Given the description of an element on the screen output the (x, y) to click on. 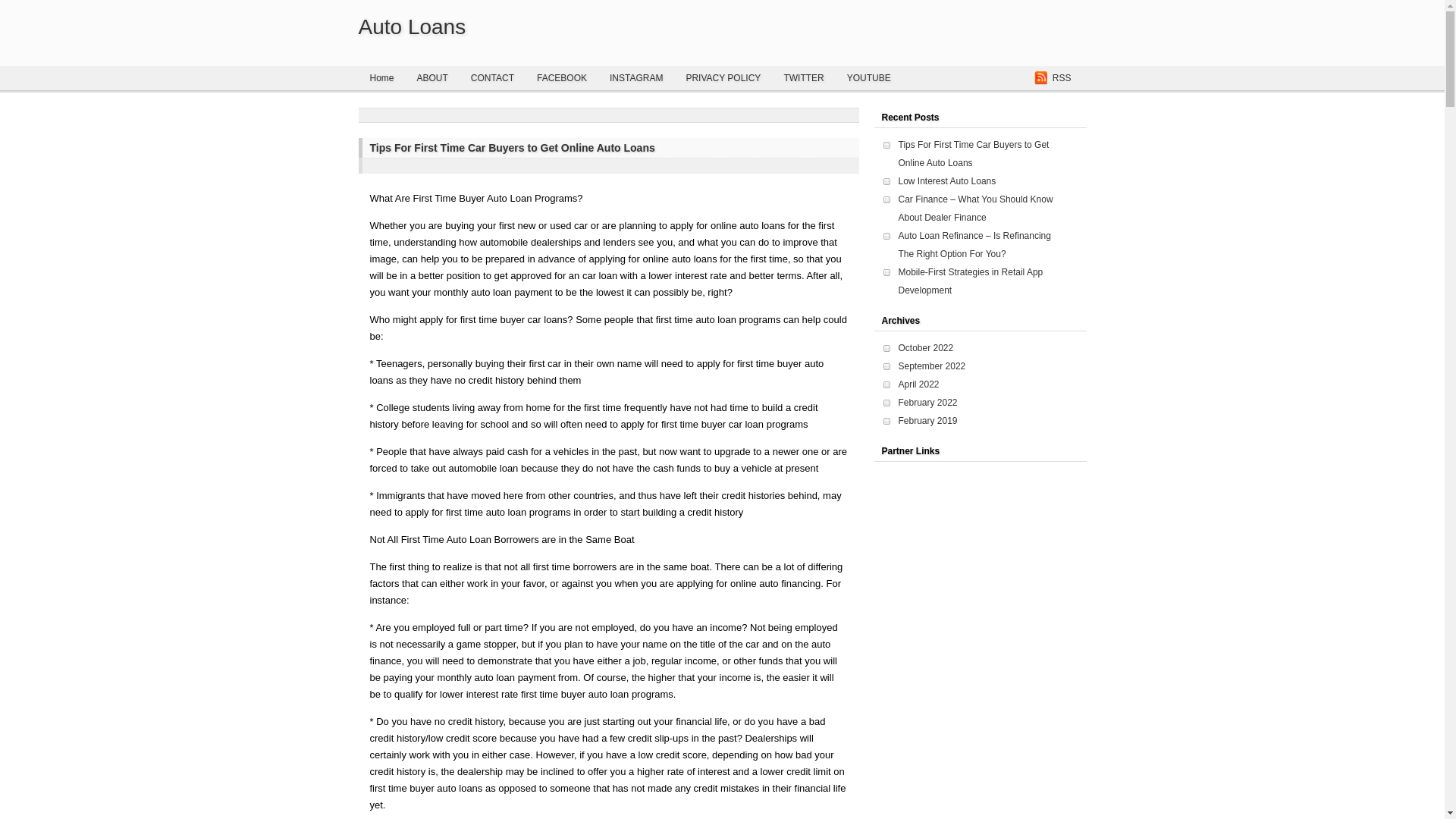
Home (381, 78)
Home (381, 78)
FACEBOOK (561, 78)
YOUTUBE (868, 78)
April 2022 (918, 384)
CONTACT (492, 78)
Tips For First Time Car Buyers to Get Online Auto Loans (973, 153)
FACEBOOK (561, 78)
Low Interest Auto Loans (946, 181)
TWITTER (802, 78)
